Given the description of an element on the screen output the (x, y) to click on. 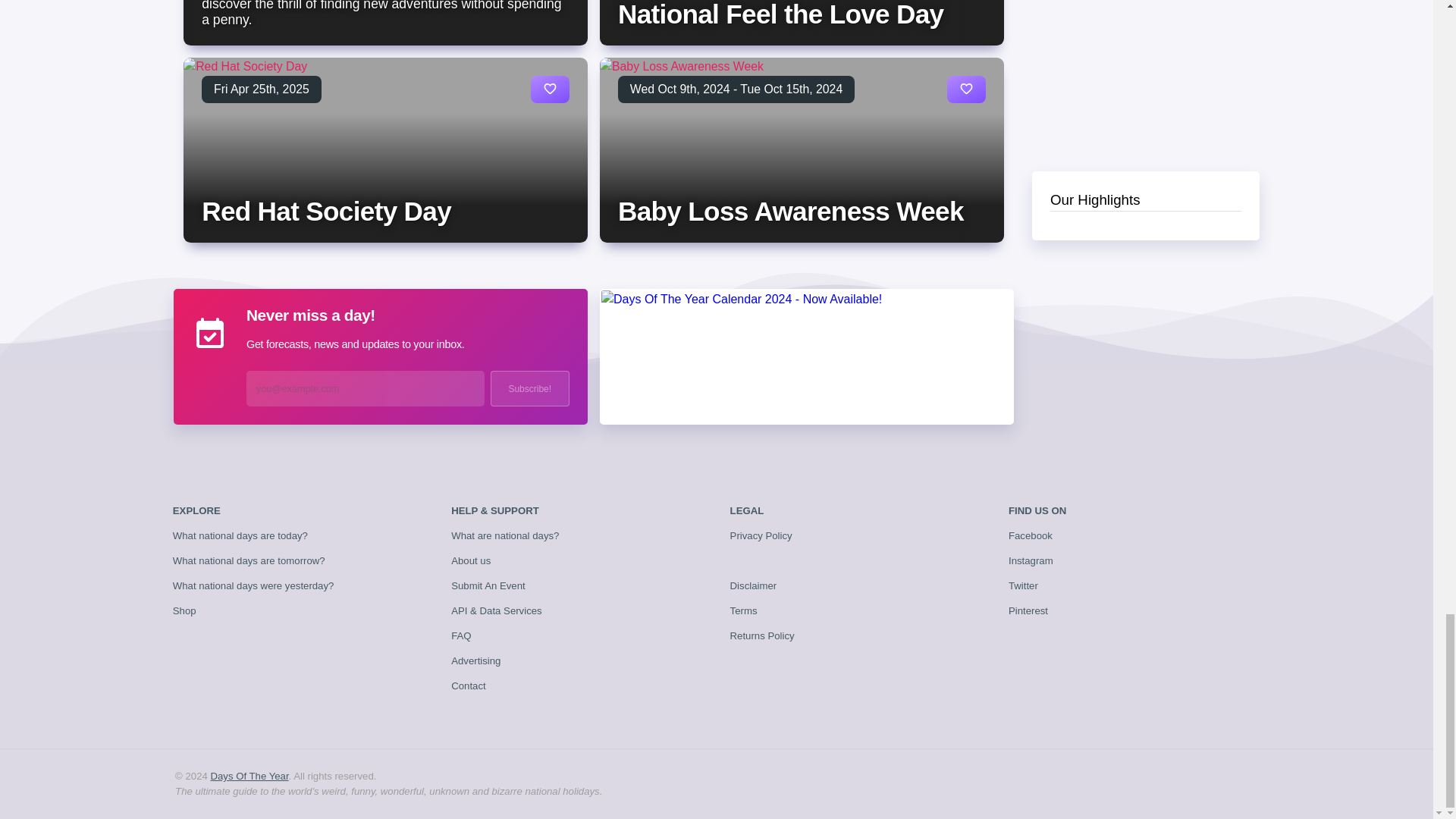
Facebook (1030, 535)
Subscribe! (529, 388)
Instagram (1030, 560)
Twitter (1023, 585)
Pinterest (1028, 610)
Red Hat Society Day (326, 211)
National Feel the Love Day (780, 14)
